Given the description of an element on the screen output the (x, y) to click on. 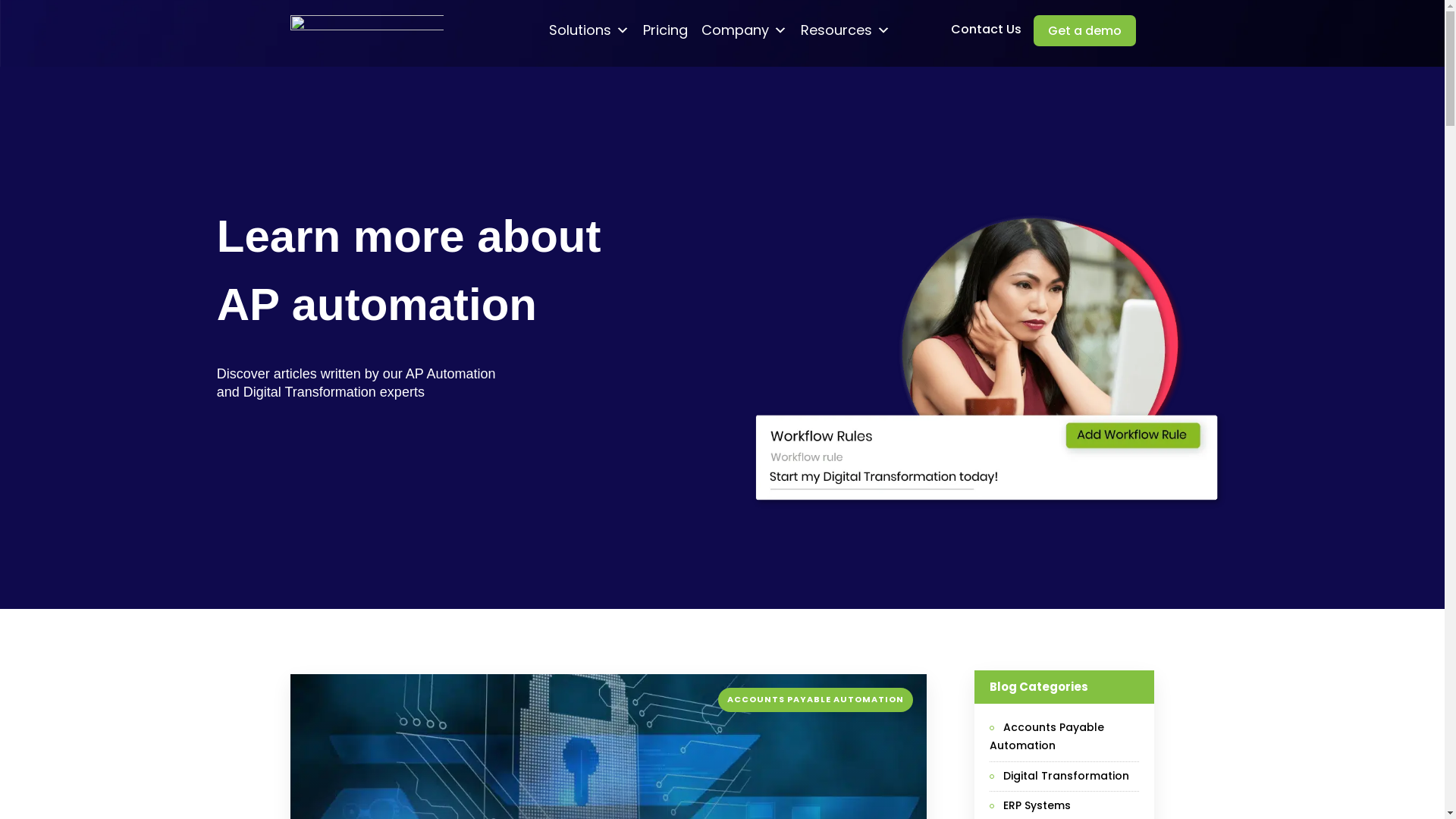
Contact Us Element type: text (985, 29)
Solutions Element type: text (588, 26)
blog section Element type: hover (988, 506)
EL logow2 Element type: hover (365, 26)
Company Element type: text (743, 26)
Pricing Element type: text (664, 26)
Get a demo Element type: text (1083, 30)
Resources Element type: text (844, 26)
Digital Transformation Element type: text (1059, 776)
ERP Systems Element type: text (1029, 806)
Accounts Payable Automation Element type: text (1064, 736)
ACCOUNTS PAYABLE AUTOMATION Element type: text (815, 699)
